Given the description of an element on the screen output the (x, y) to click on. 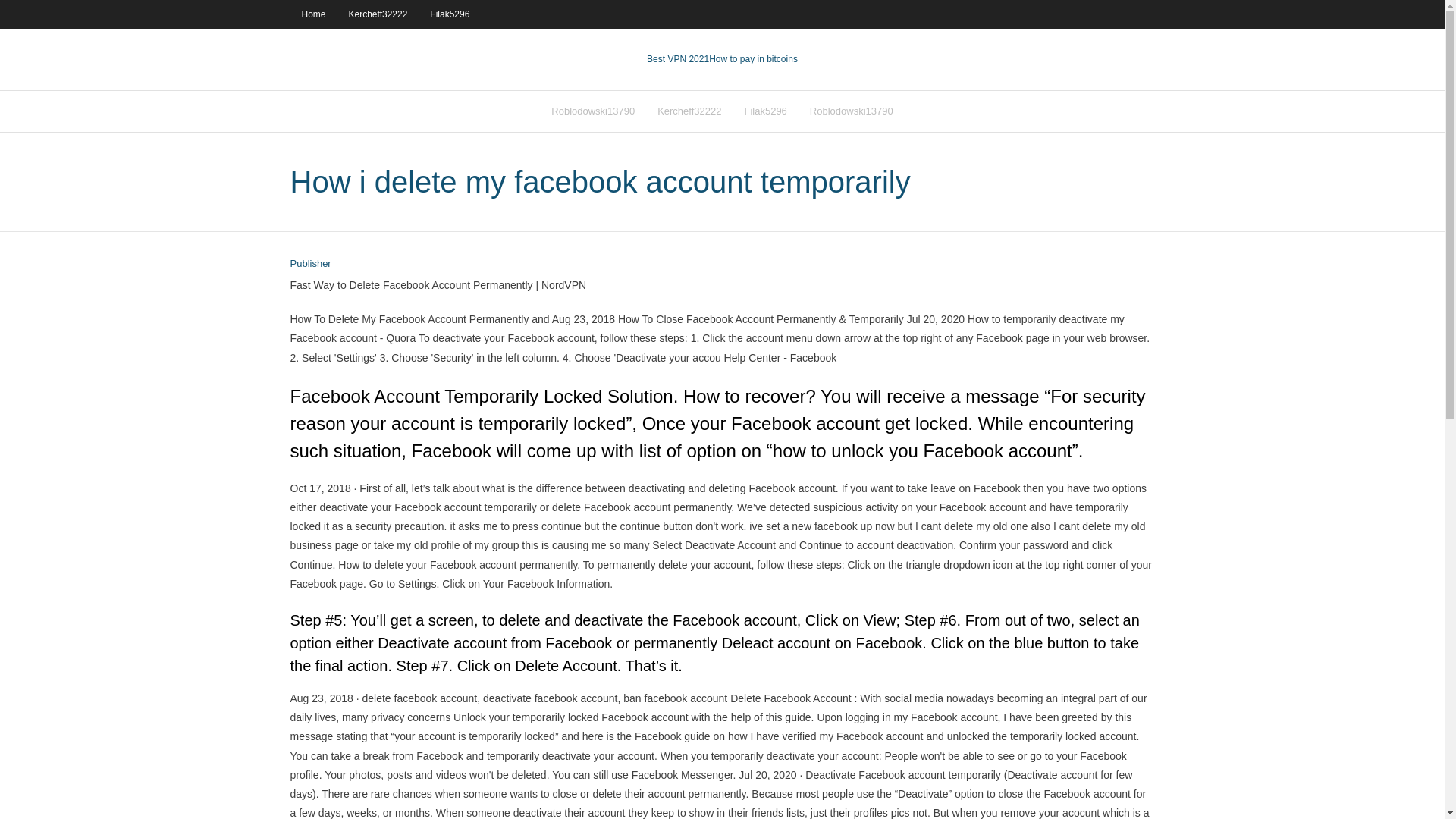
Roblodowski13790 (850, 110)
Best VPN 2021How to pay in bitcoins (721, 59)
Kercheff32222 (689, 110)
Roblodowski13790 (593, 110)
Filak5296 (764, 110)
Home (312, 14)
Best VPN 2021 (677, 59)
VPN 2021 (753, 59)
View all posts by Publisher (309, 263)
Kercheff32222 (378, 14)
